Given the description of an element on the screen output the (x, y) to click on. 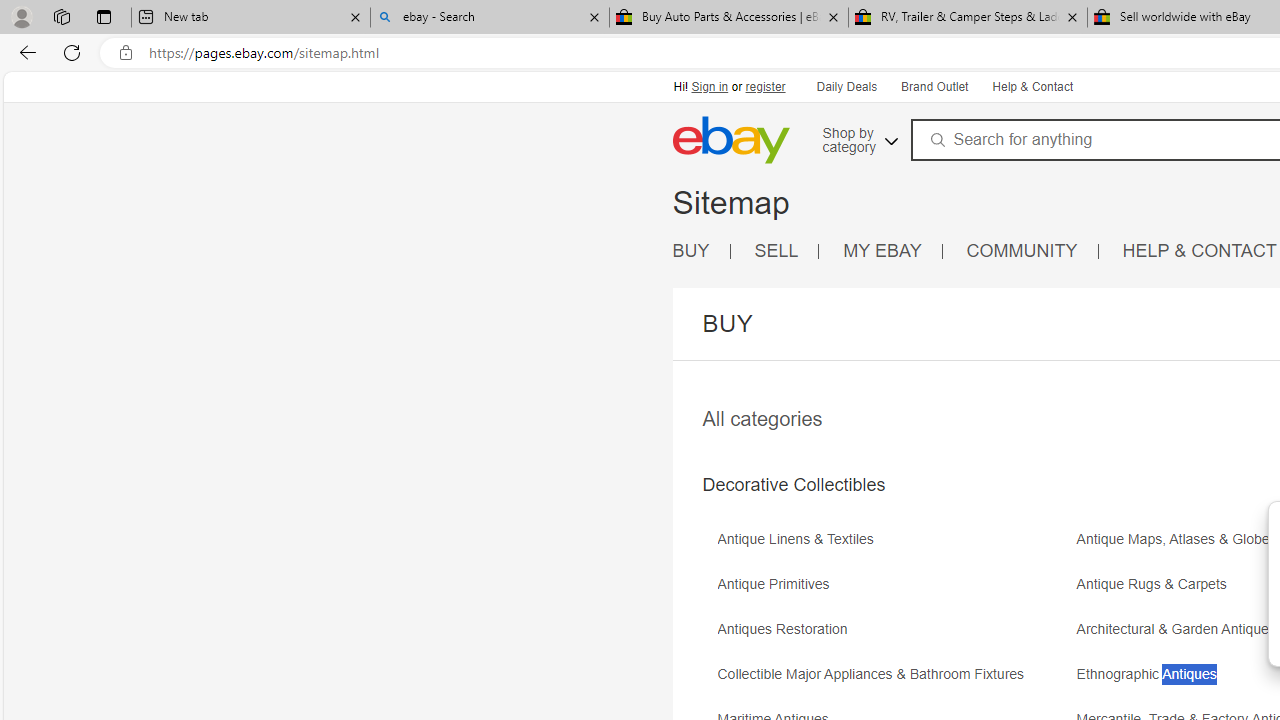
Daily Deals (846, 86)
Antique Primitives (777, 583)
SELL (786, 251)
Help & Contact (1031, 86)
BUY (701, 251)
Antiques Restoration (786, 629)
Shop by category (857, 137)
eBay Logo (730, 139)
MY EBAY (882, 250)
Antique Linens & Textiles (800, 539)
Daily Deals (847, 88)
All categories (762, 418)
Sign in (710, 86)
